Given the description of an element on the screen output the (x, y) to click on. 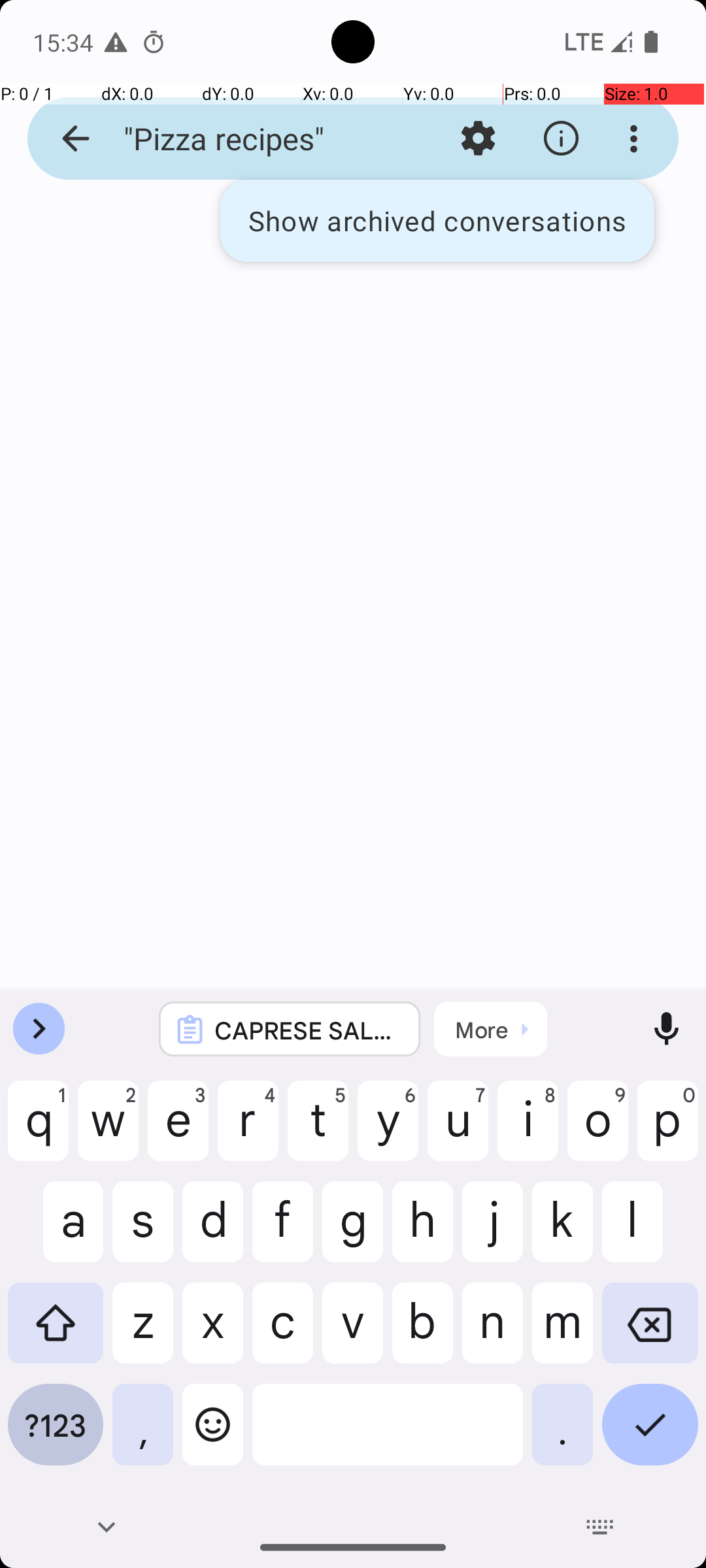
Show archived conversations Element type: android.widget.TextView (436, 220)
